Given the description of an element on the screen output the (x, y) to click on. 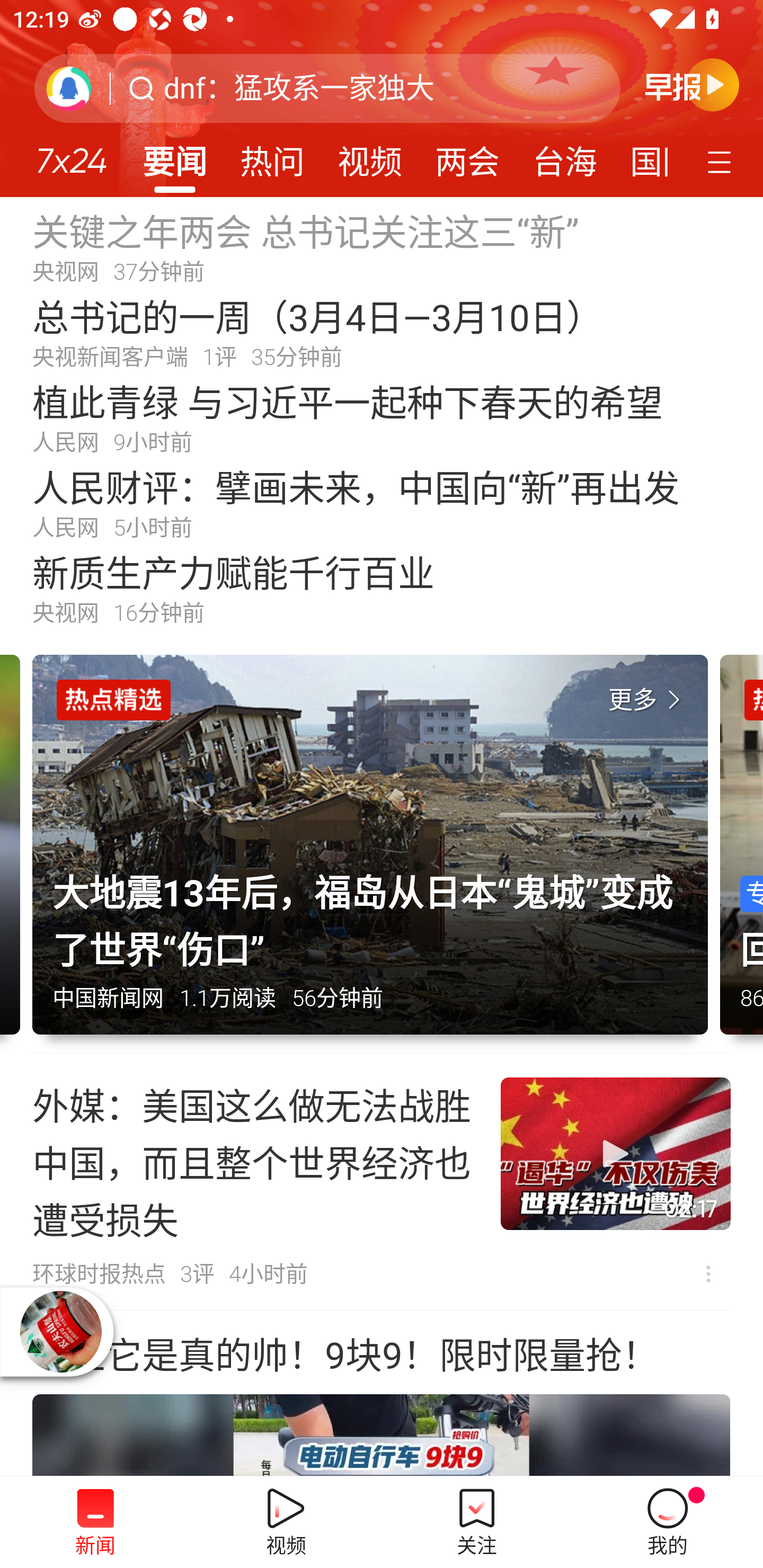
早晚报 (691, 84)
刷新 (68, 88)
dnf：猛攻系一家独大 (299, 88)
7x24 (70, 154)
要闻 (174, 155)
热问 (272, 155)
视频 (369, 155)
两会 (466, 155)
台海 (564, 155)
 定制频道 (721, 160)
关键之年两会 总书记关注这三“新” 央视网 37分钟前 (381, 245)
总书记的一周（3月4日—3月10日） 央视新闻客户端 1评 35分钟前 (381, 331)
植此青绿 与习近平一起种下春天的希望 人民网 9小时前 (381, 416)
人民财评：擘画未来，中国向“新”再出发 人民网 5小时前 (381, 502)
新质生产力赋能千行百业 央视网 16分钟前 (381, 587)
更多  (648, 699)
 不感兴趣 (707, 1273)
播放器 (60, 1331)
骑上它是真的帅！9块9！限时限量抢！ (381, 1393)
